Given the description of an element on the screen output the (x, y) to click on. 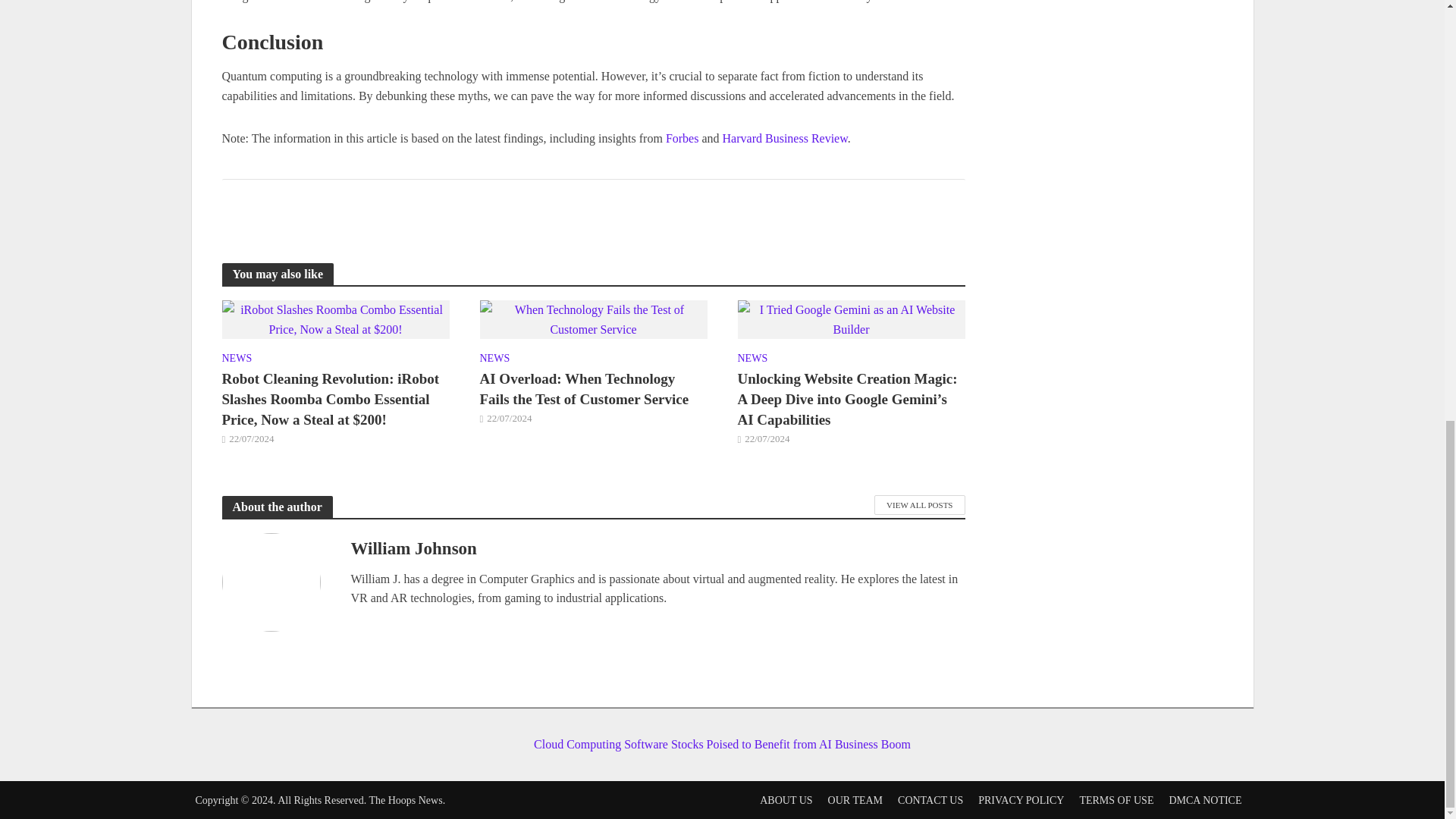
Forbes (681, 137)
Harvard Business Review (784, 137)
NEWS (494, 360)
NEWS (236, 360)
